Given the description of an element on the screen output the (x, y) to click on. 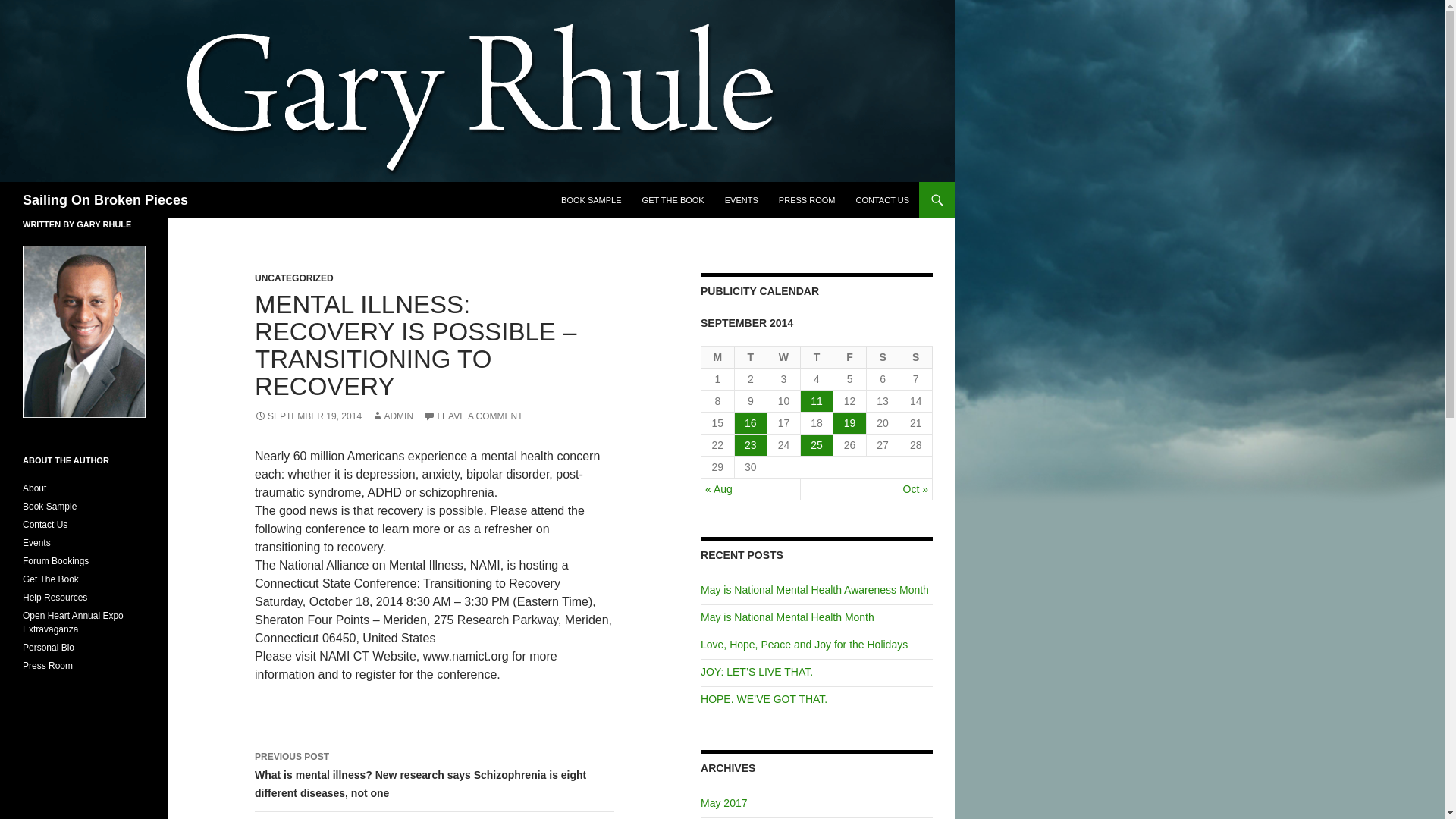
23 (751, 444)
May is National Mental Health Awareness Month (814, 589)
May 2017 (723, 802)
Thursday (817, 357)
Friday (849, 357)
PRESS ROOM (807, 199)
May is National Mental Health Month (787, 616)
ADMIN (392, 416)
19 (849, 423)
